Given the description of an element on the screen output the (x, y) to click on. 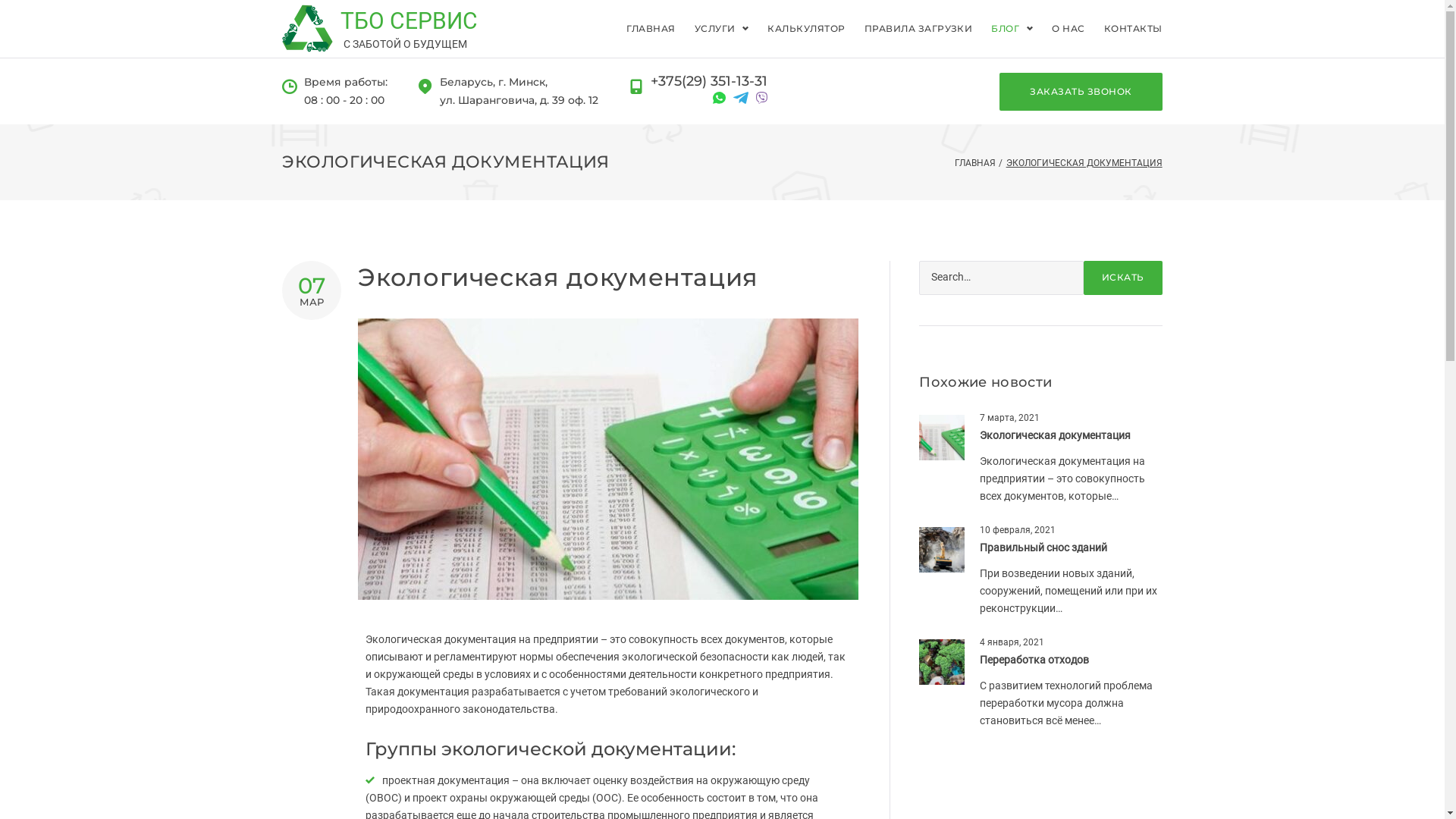
+375(29) 351-13-31 Element type: text (708, 81)
